Given the description of an element on the screen output the (x, y) to click on. 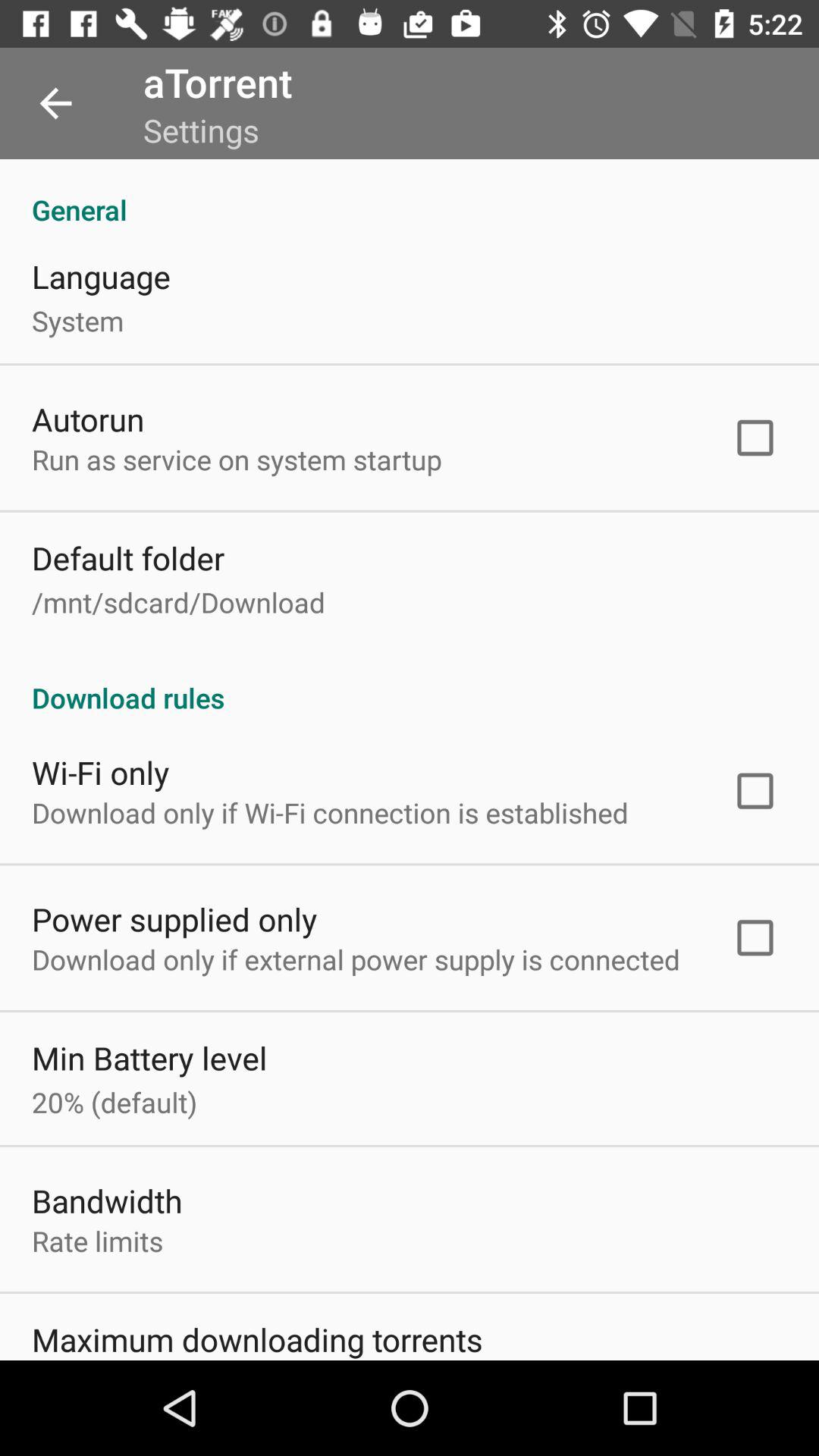
jump until run as service icon (236, 459)
